Given the description of an element on the screen output the (x, y) to click on. 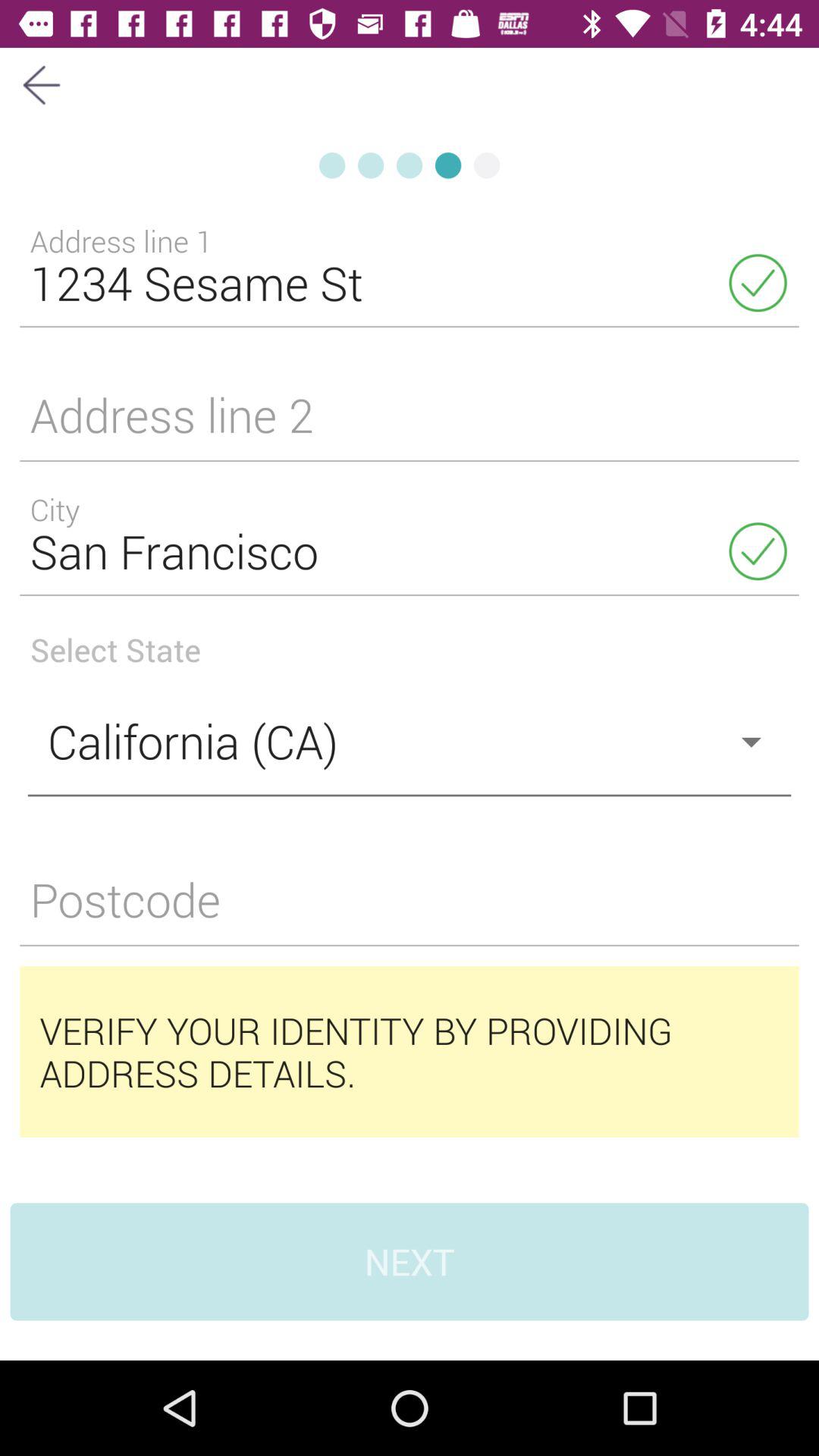
wirtting to the address (409, 423)
